Given the description of an element on the screen output the (x, y) to click on. 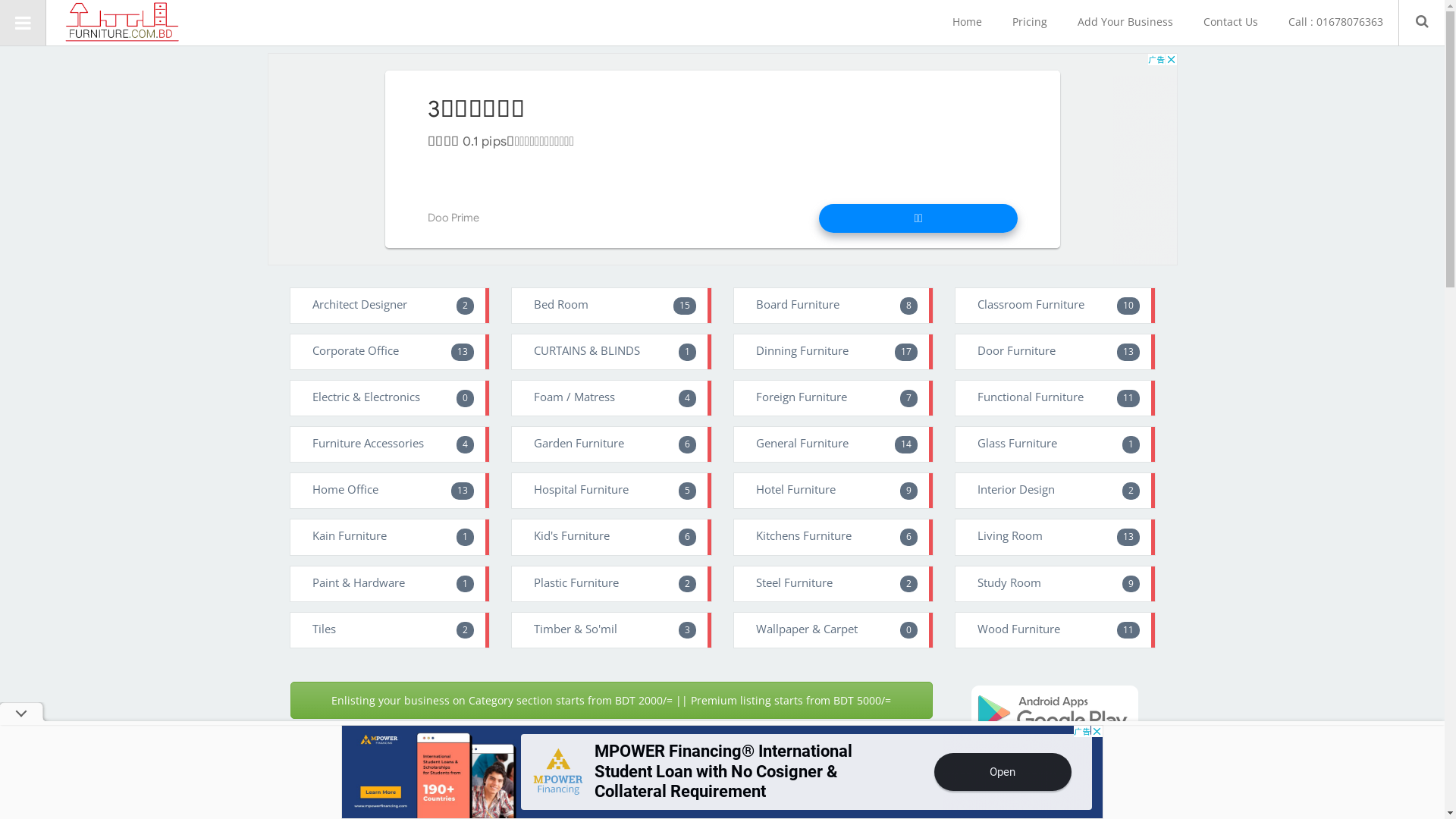
Wallpaper & Carpet
0 Element type: text (833, 629)
Electric & Electronics
0 Element type: text (389, 397)
Architect Designer
2 Element type: text (389, 305)
Steel Furniture
2 Element type: text (833, 583)
Board Furniture
8 Element type: text (833, 305)
Living Room
13 Element type: text (1054, 536)
Glass Furniture
1 Element type: text (1054, 443)
Functional Furniture
11 Element type: text (1054, 397)
Plastic Furniture
2 Element type: text (611, 583)
Wood Furniture
11 Element type: text (1054, 629)
Contact Us Element type: text (1230, 21)
Foam / Matress
4 Element type: text (611, 397)
Home Element type: text (967, 21)
Kid's Furniture
6 Element type: text (611, 536)
Tiles
2 Element type: text (389, 629)
Hotel Furniture
9 Element type: text (833, 490)
Bed Room
15 Element type: text (611, 305)
Corporate Office
13 Element type: text (389, 351)
Advertisement Element type: hover (721, 159)
Foreign Furniture
7 Element type: text (833, 397)
CURTAINS & BLINDS
1 Element type: text (611, 351)
Timber & So'mil
3 Element type: text (611, 629)
Kain Furniture
1 Element type: text (389, 536)
Home Office
13 Element type: text (389, 490)
General Furniture
14 Element type: text (833, 443)
Study Room
9 Element type: text (1054, 583)
Classroom Furniture
10 Element type: text (1054, 305)
Door Furniture
13 Element type: text (1054, 351)
Interior Design
2 Element type: text (1054, 490)
Add Your Business Element type: text (1125, 21)
Garden Furniture
6 Element type: text (611, 443)
Paint & Hardware
1 Element type: text (389, 583)
Kitchens Furniture
6 Element type: text (833, 536)
Dinning Furniture
17 Element type: text (833, 351)
Hospital Furniture
5 Element type: text (611, 490)
Pricing Element type: text (1029, 21)
Furniture Accessories
4 Element type: text (389, 443)
Call : 01678076363 Element type: text (1335, 21)
